Given the description of an element on the screen output the (x, y) to click on. 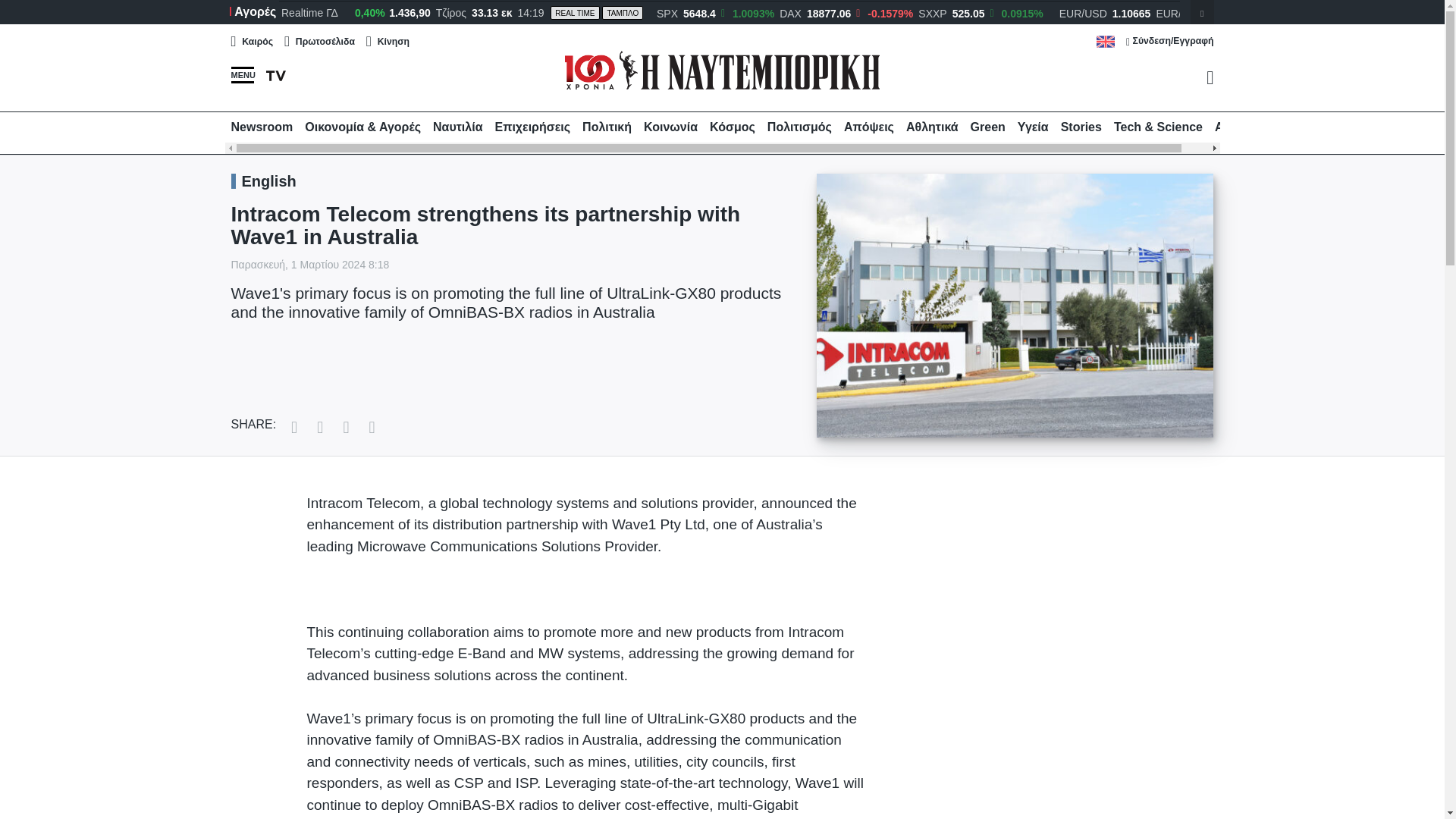
REAL TIME (574, 12)
Back to Homepage (721, 68)
SXXP (932, 13)
SPX (667, 13)
DAX (790, 13)
Expand top bar (1201, 12)
